Given the description of an element on the screen output the (x, y) to click on. 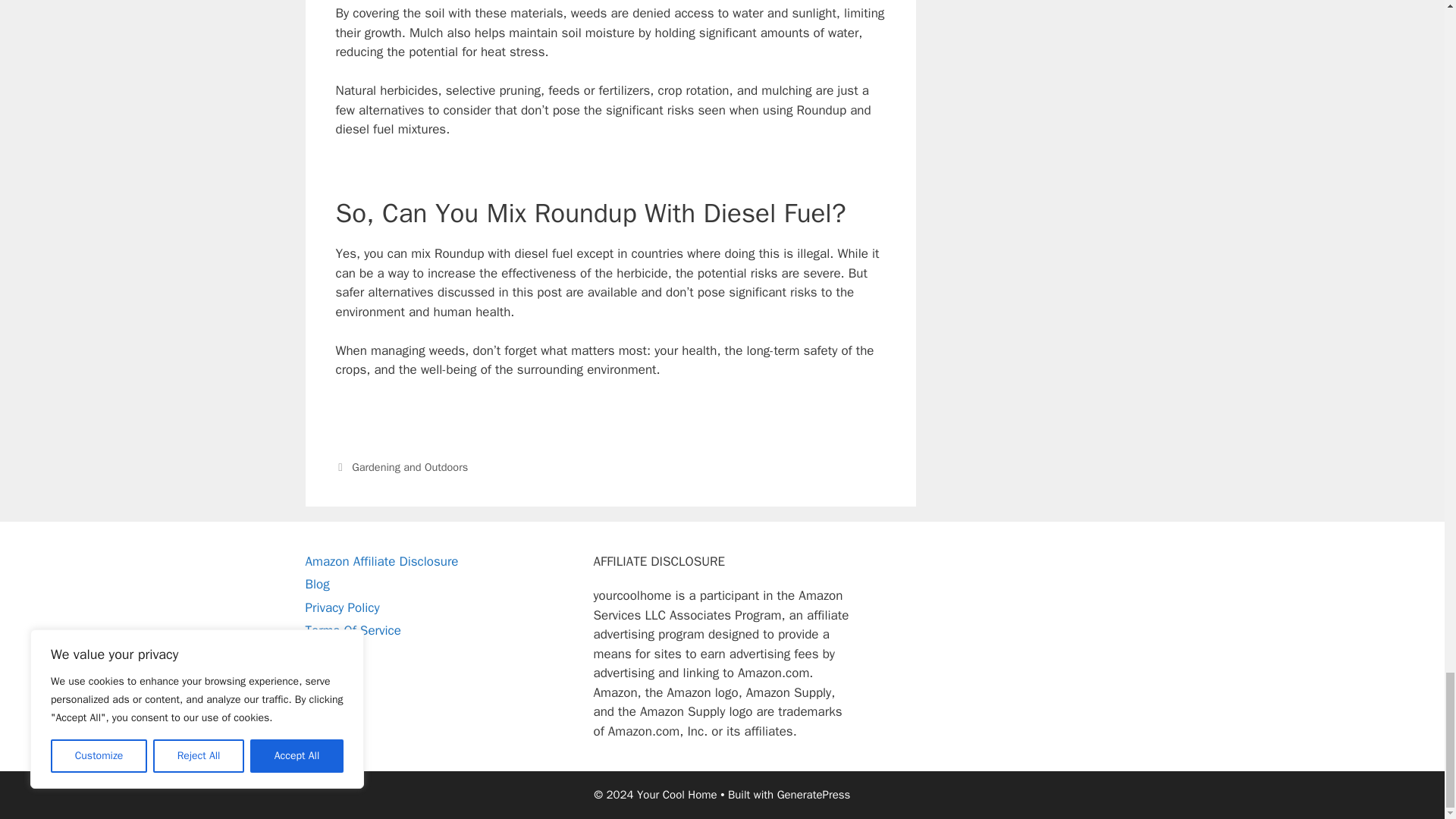
Gardening and Outdoors (409, 467)
